Given the description of an element on the screen output the (x, y) to click on. 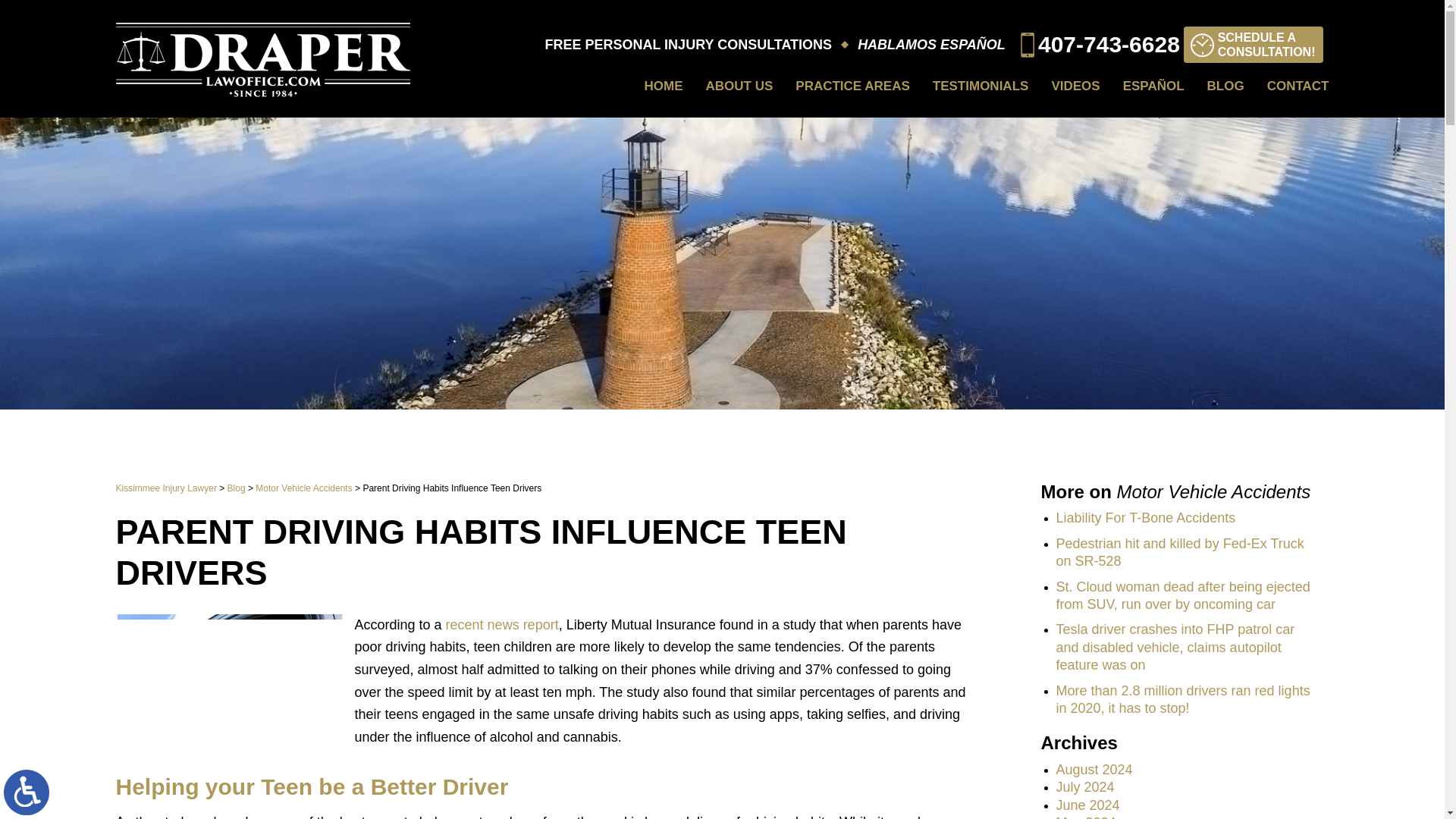
407-743-6628 (1099, 44)
BLOG (1225, 85)
PRACTICE AREAS (852, 85)
Kissimmee Injury Lawyer (165, 488)
Motor Vehicle Accidents (1253, 44)
HOME (304, 488)
recent news report (663, 85)
VIDEOS (502, 624)
CONTACT (1075, 85)
ABOUT US (1297, 85)
Blog (739, 85)
TESTIMONIALS (236, 488)
Switch to ADA Accessible Theme (981, 85)
